Given the description of an element on the screen output the (x, y) to click on. 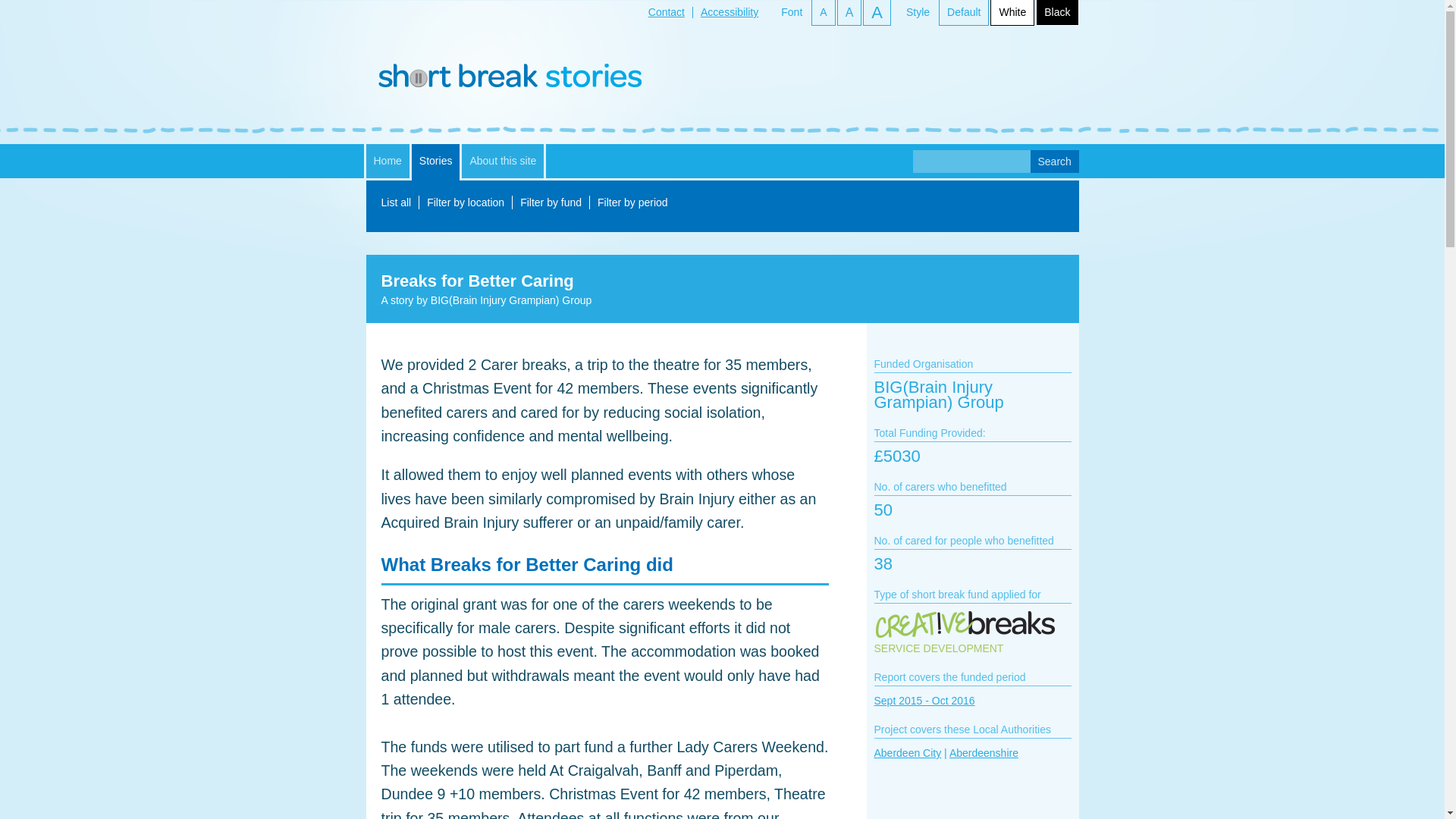
Search (1053, 160)
About this site (502, 161)
A (877, 12)
Contact (665, 11)
Accessibility (729, 11)
Filter by fund (549, 202)
List all (395, 202)
Filter by location (464, 202)
Filter by period (632, 202)
Stories (436, 162)
